Given the description of an element on the screen output the (x, y) to click on. 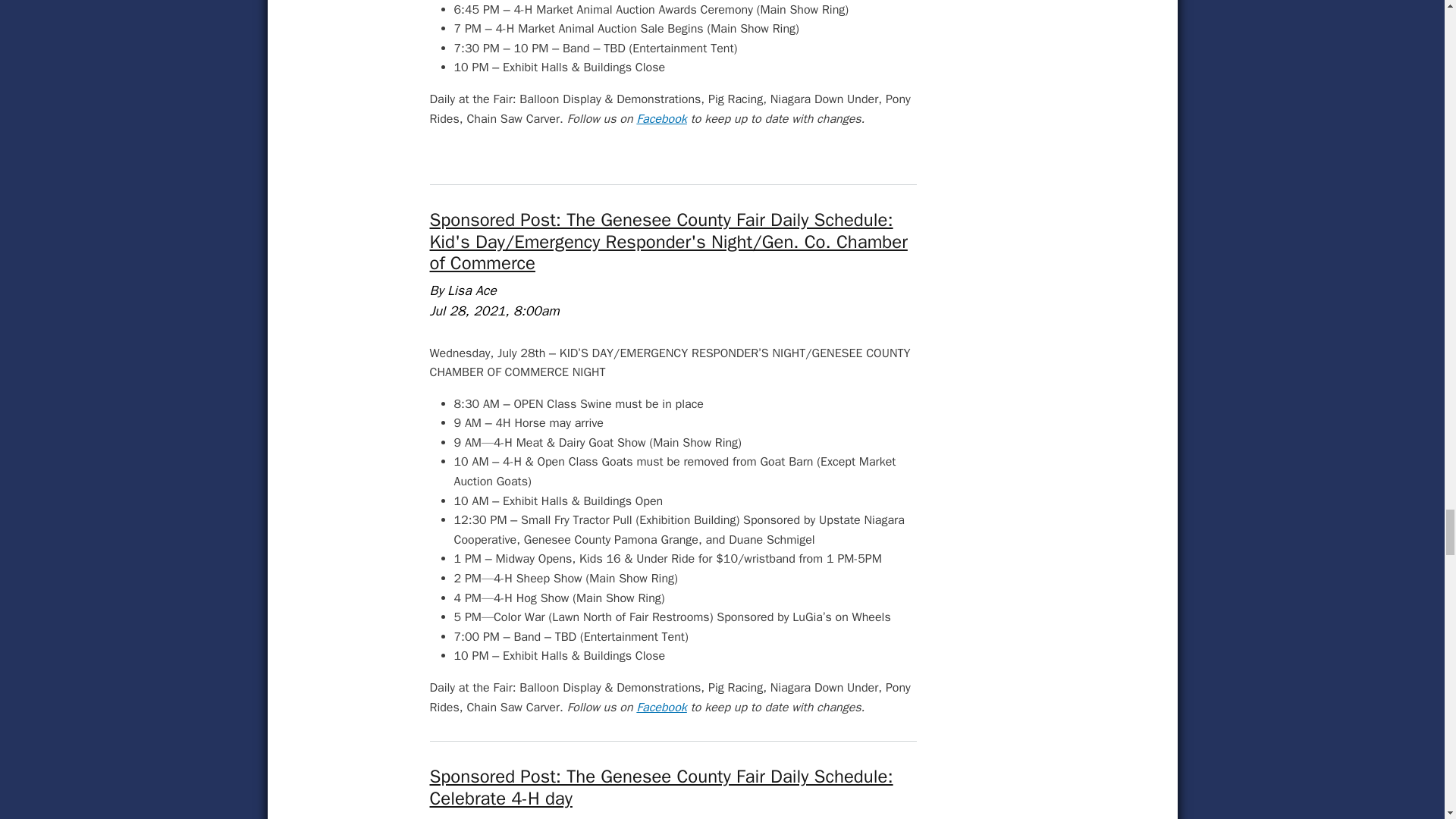
Facebook (660, 118)
Facebook (660, 707)
